Given the description of an element on the screen output the (x, y) to click on. 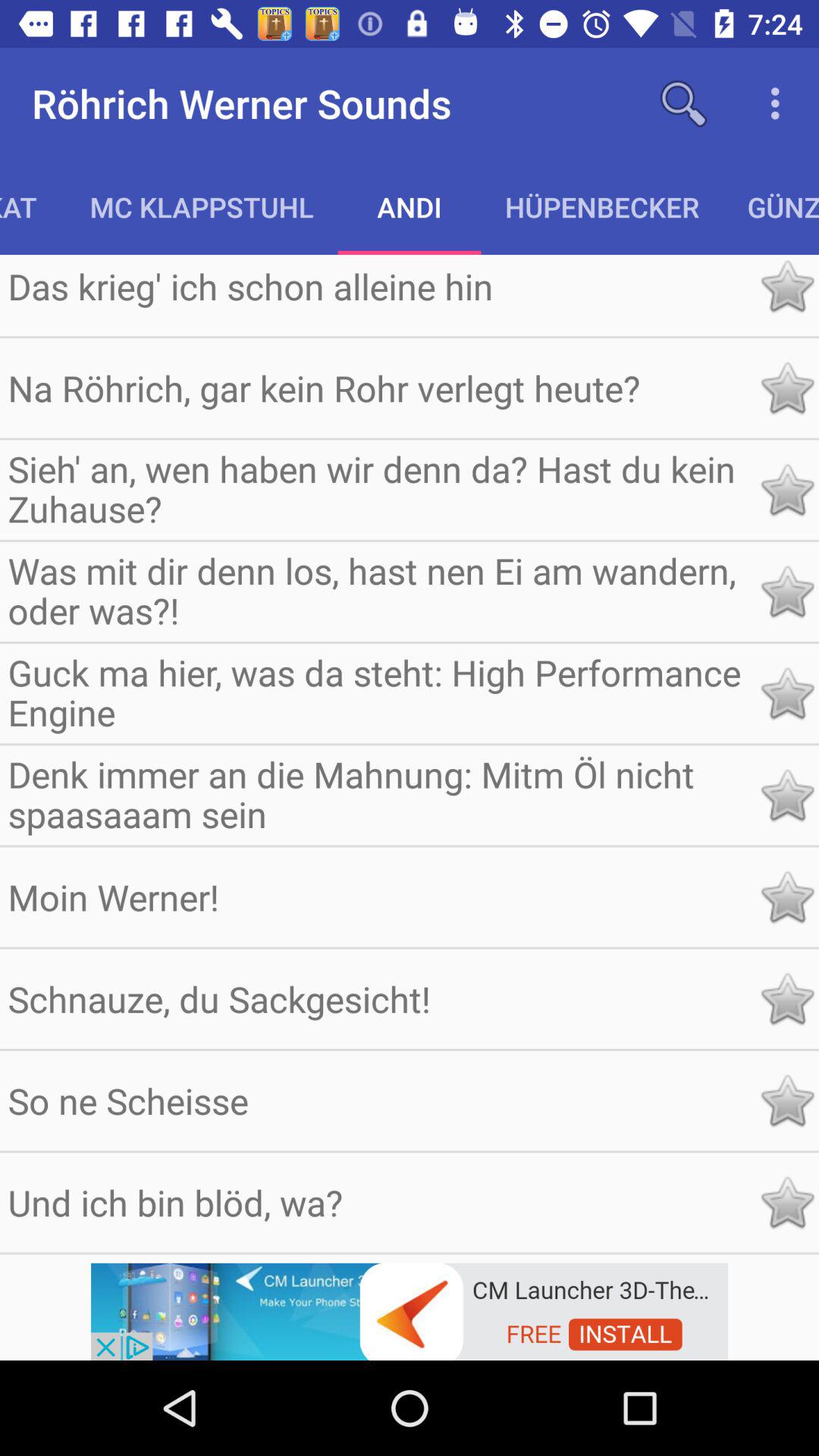
favorite (787, 795)
